Given the description of an element on the screen output the (x, y) to click on. 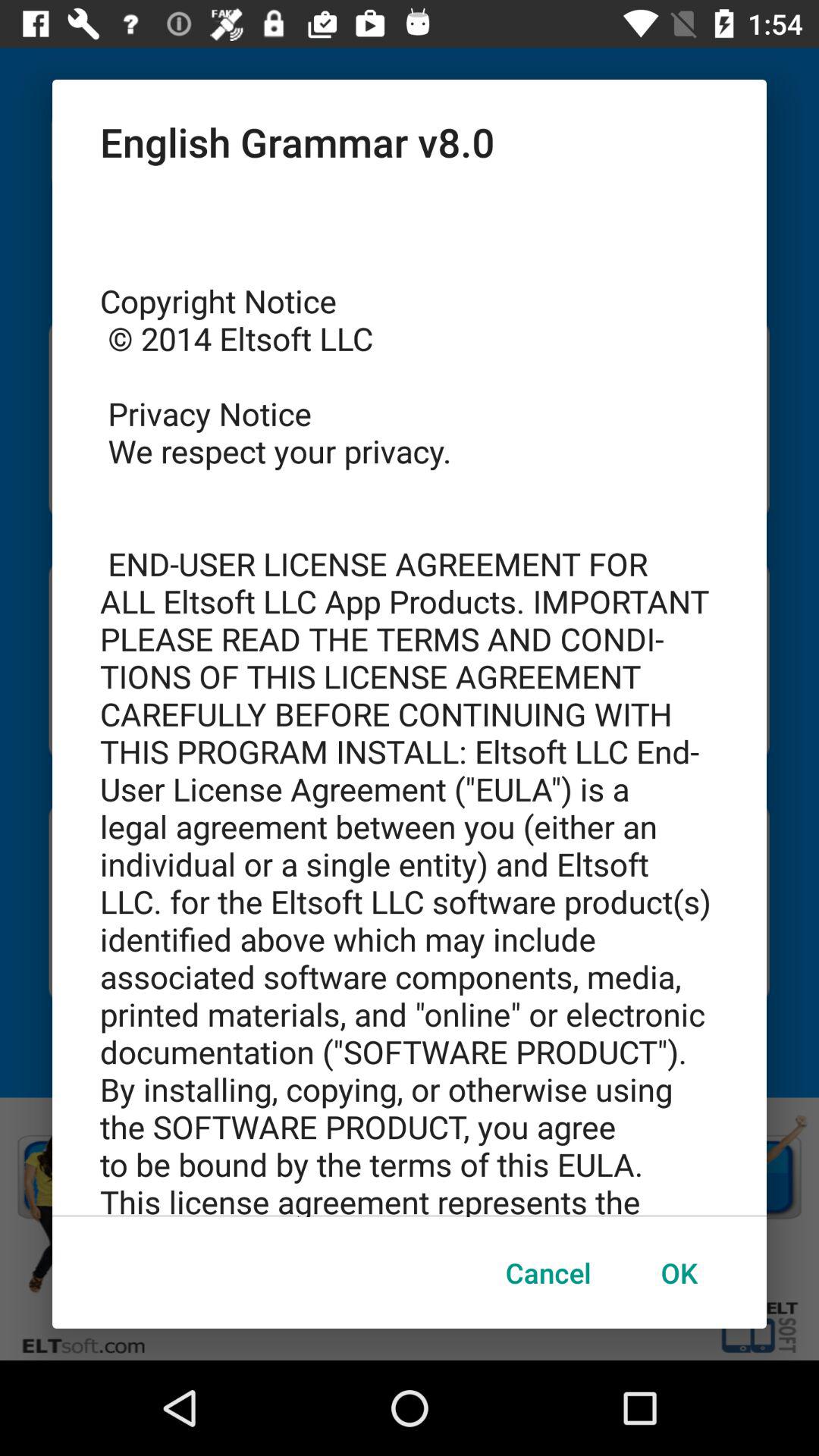
press the cancel (548, 1272)
